Given the description of an element on the screen output the (x, y) to click on. 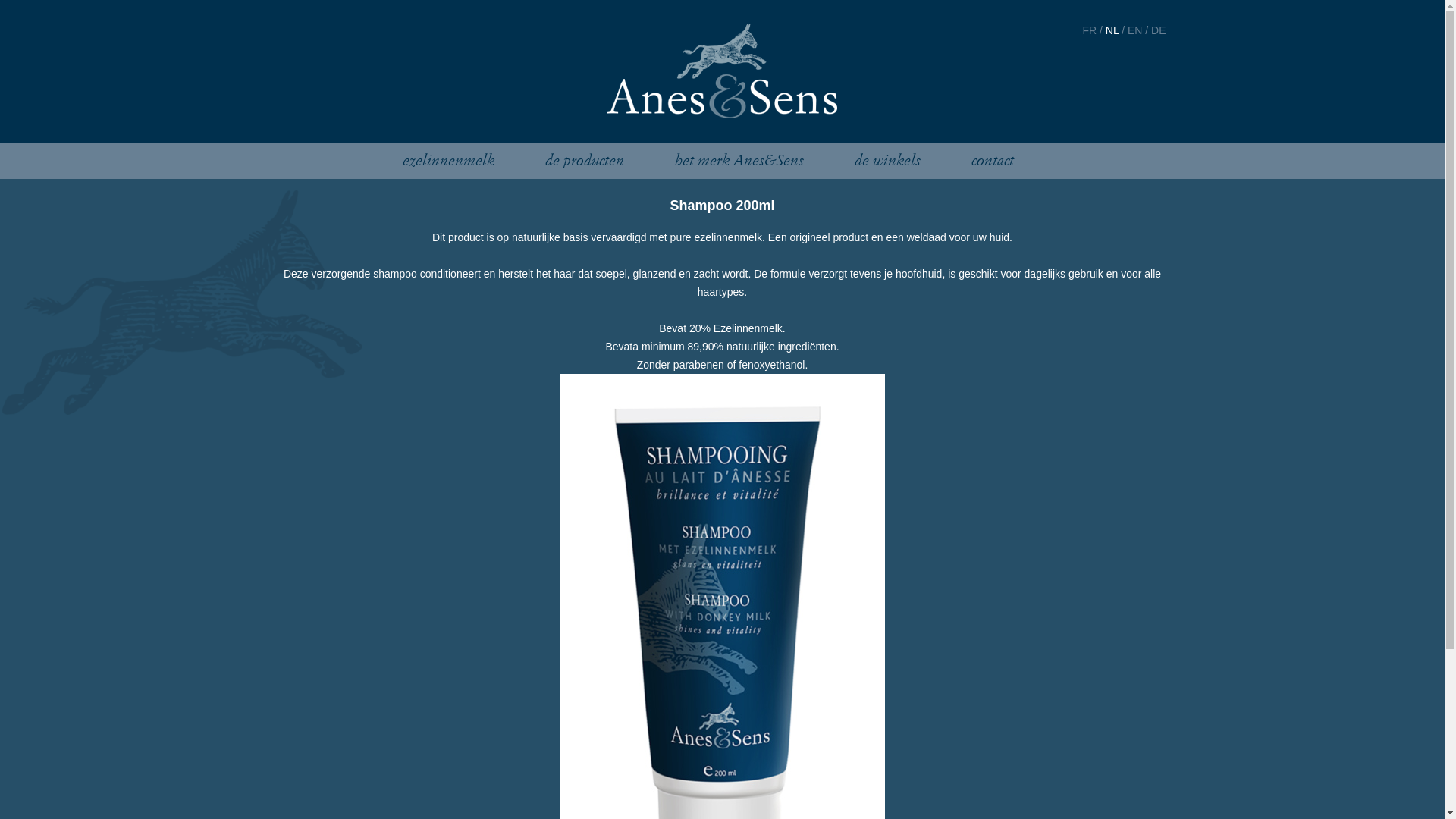
Ezelmelk Element type: hover (722, 72)
EN Element type: text (1134, 30)
contact Element type: text (992, 160)
de winkels Element type: text (887, 160)
ezelinnenmelk Element type: text (448, 160)
DE Element type: text (1158, 30)
FR Element type: text (1089, 30)
NL Element type: text (1111, 30)
de producten Element type: text (584, 160)
het merk Anes&Sens Element type: text (739, 160)
